Given the description of an element on the screen output the (x, y) to click on. 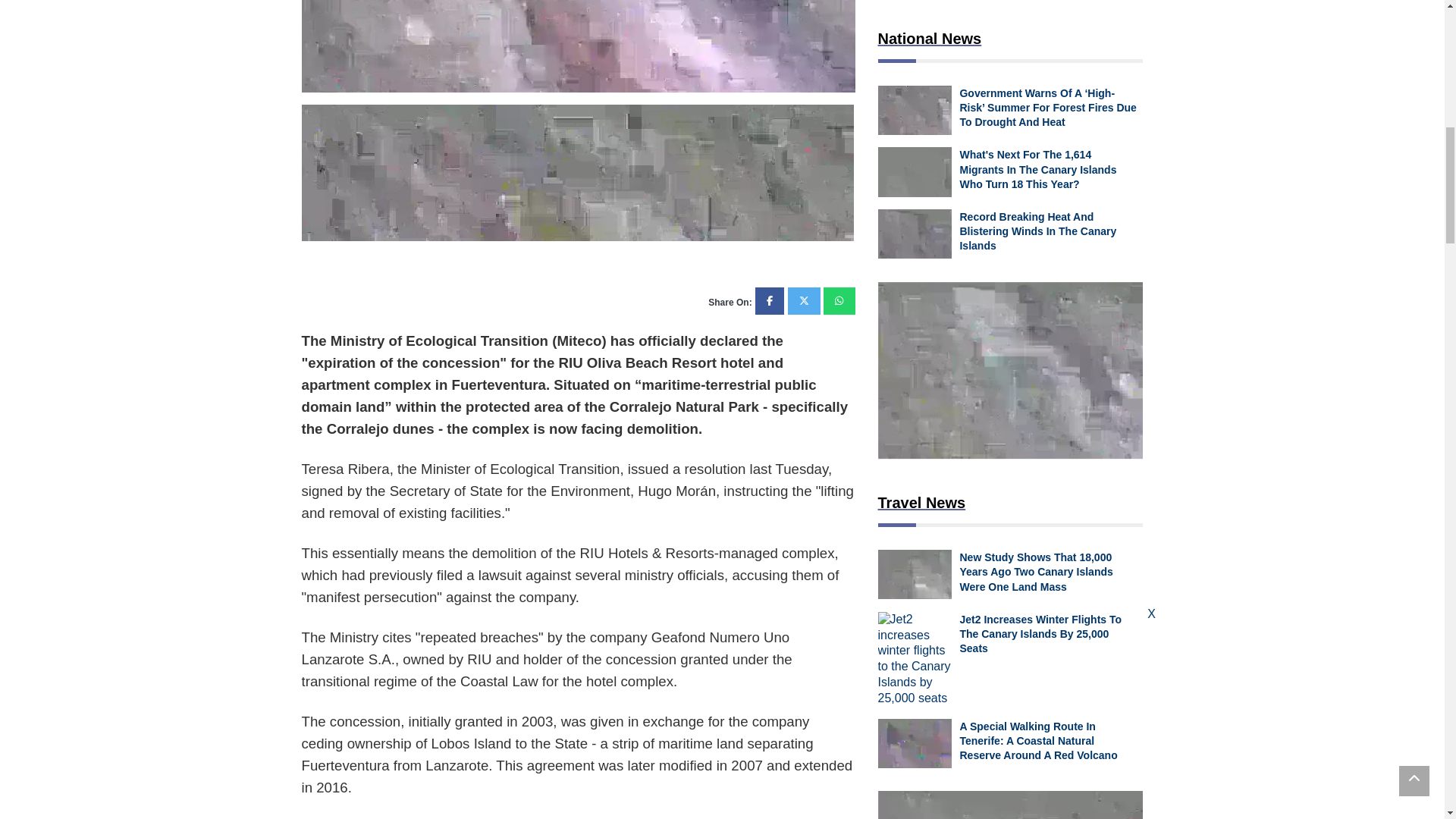
Blevins Franks (577, 172)
